Given the description of an element on the screen output the (x, y) to click on. 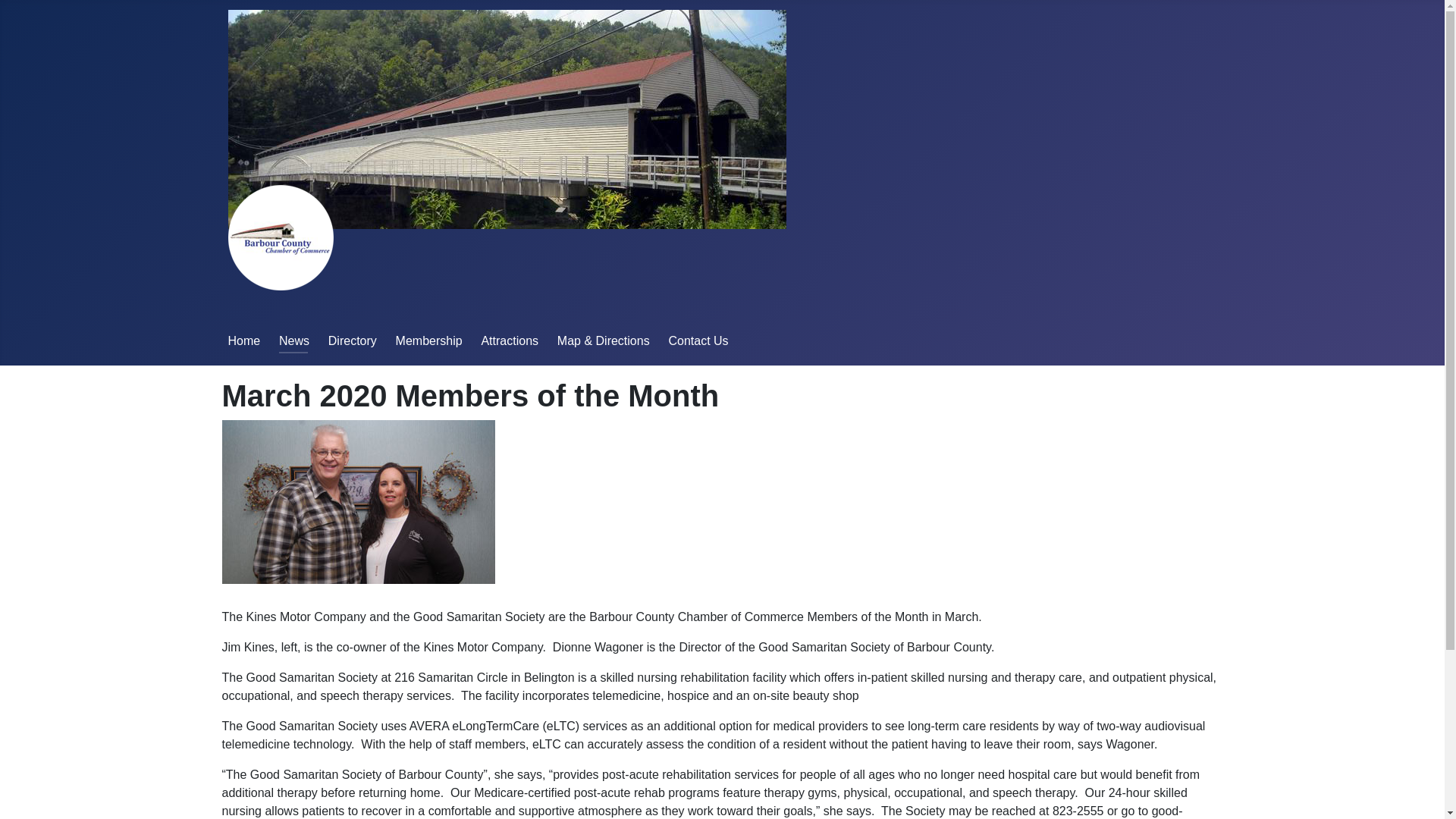
Home (243, 340)
Membership (429, 340)
Attractions (509, 340)
Contact Us (698, 340)
Directory (353, 340)
News (293, 340)
